Given the description of an element on the screen output the (x, y) to click on. 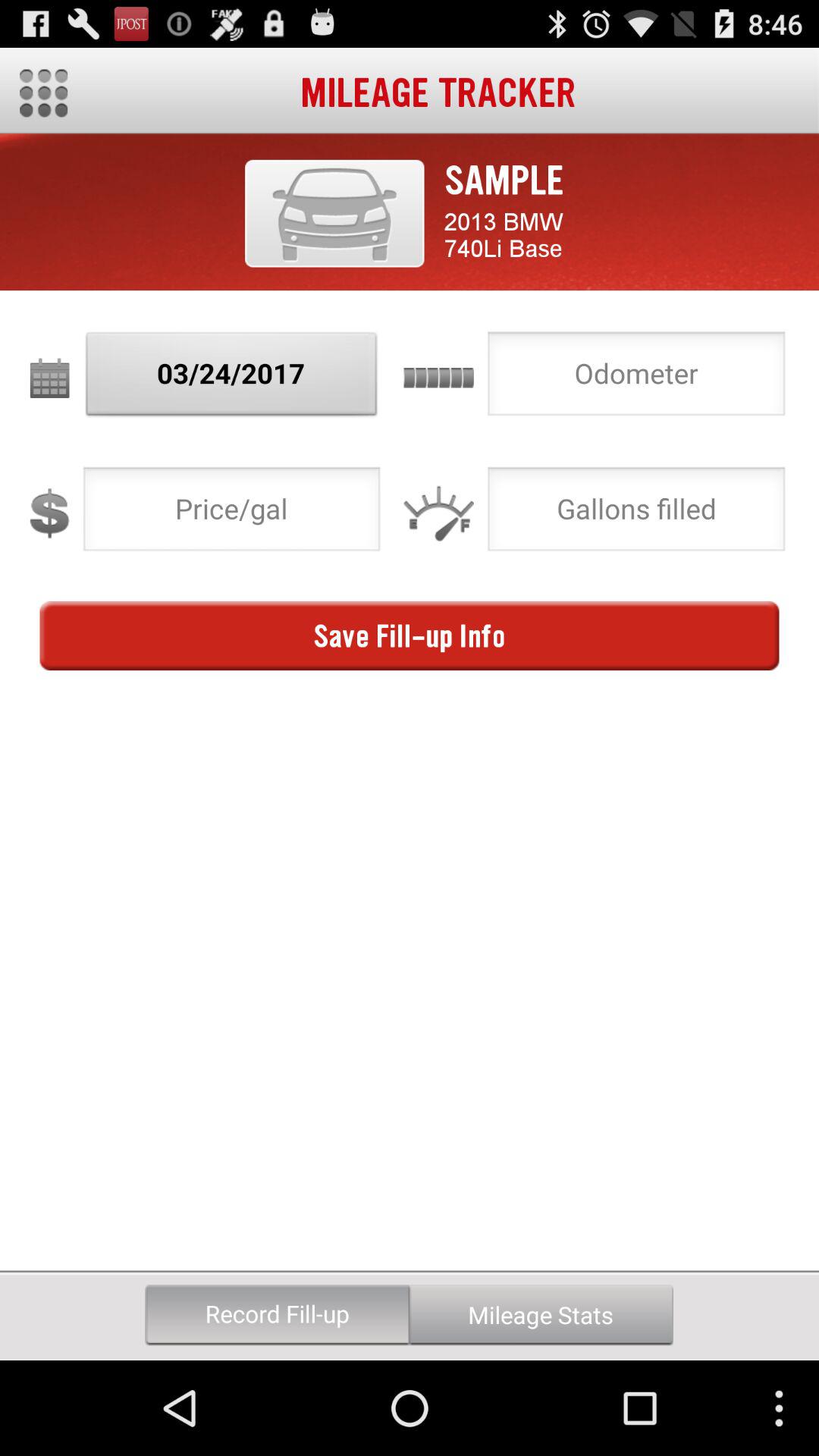
select item below mileage tracker (334, 213)
